Given the description of an element on the screen output the (x, y) to click on. 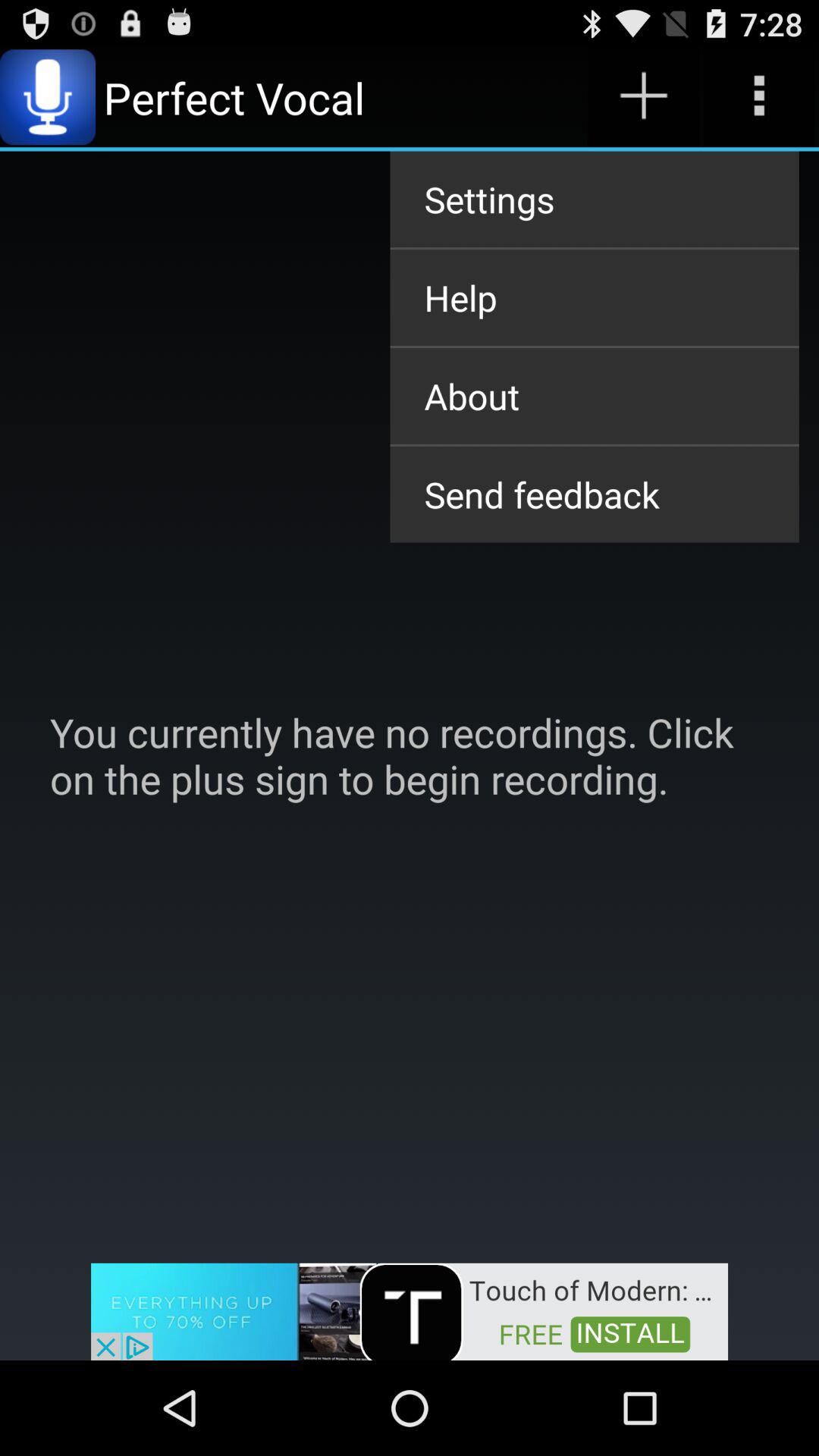
increment button (643, 97)
